Given the description of an element on the screen output the (x, y) to click on. 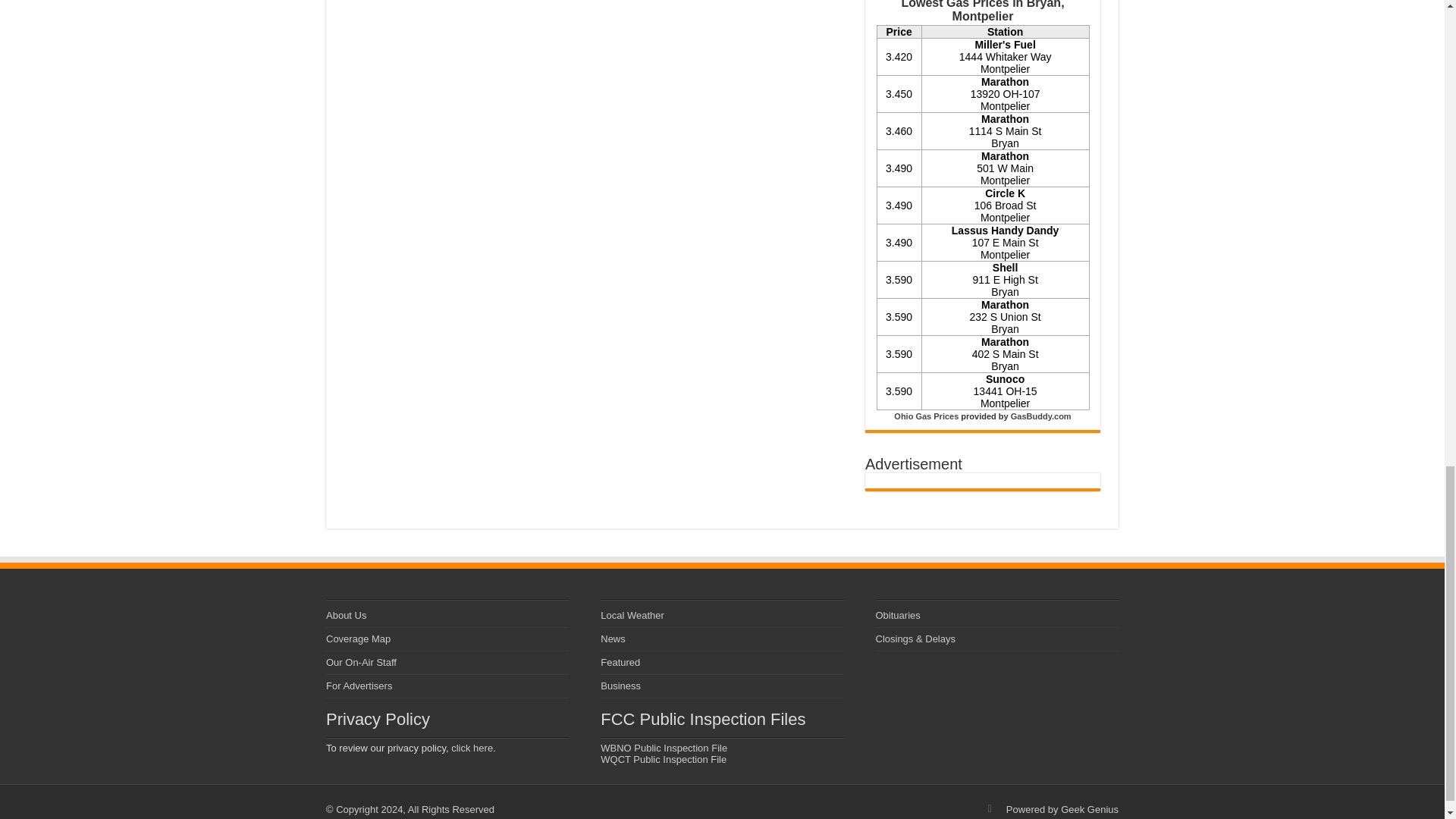
Montpelier (1004, 69)
Miller's Fuel (1004, 44)
Marathon (1005, 81)
